Given the description of an element on the screen output the (x, y) to click on. 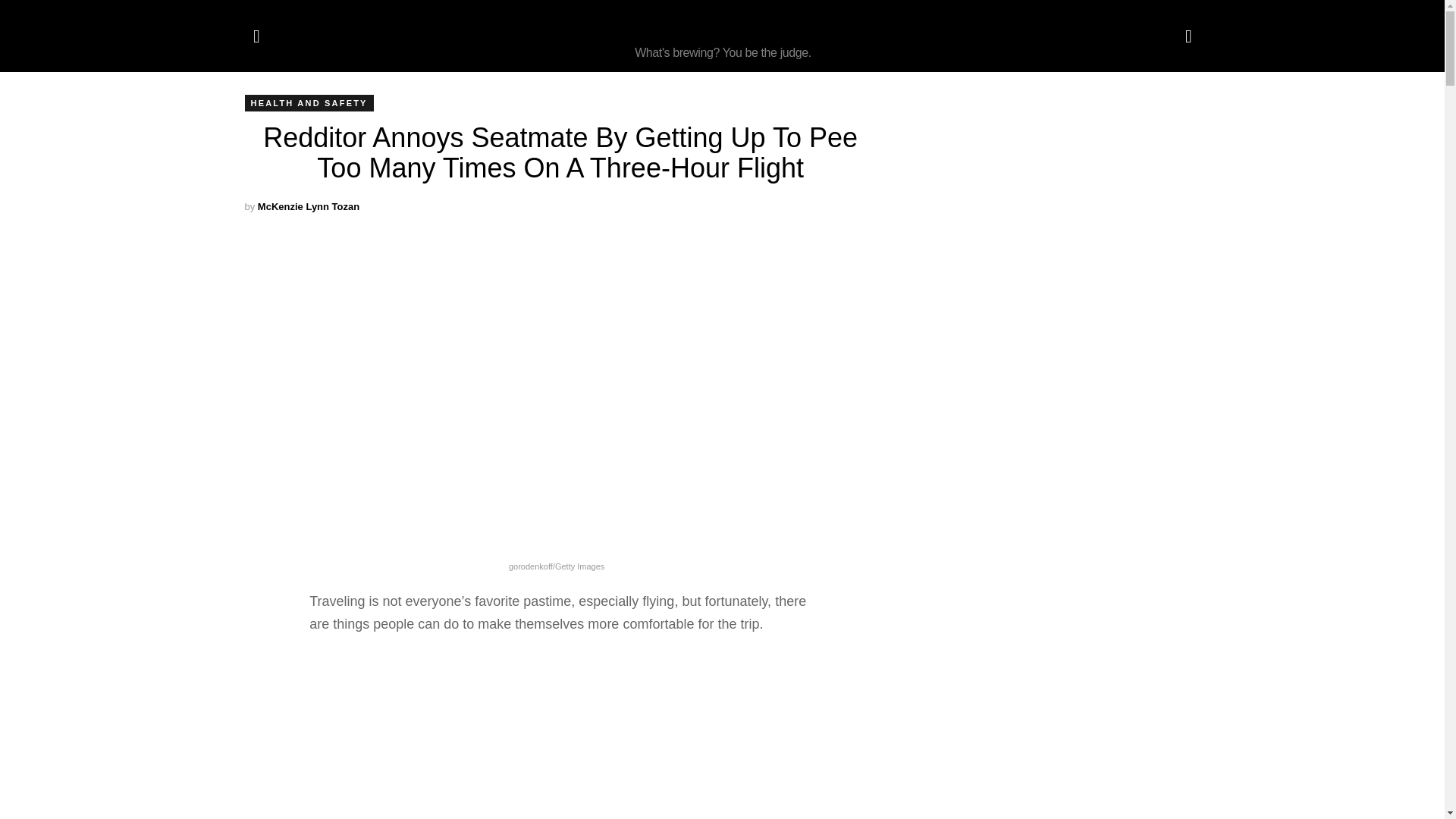
HEALTH AND SAFETY (308, 103)
Posts by McKenzie Lynn Tozan (308, 206)
McKenzie Lynn Tozan (308, 206)
